Given the description of an element on the screen output the (x, y) to click on. 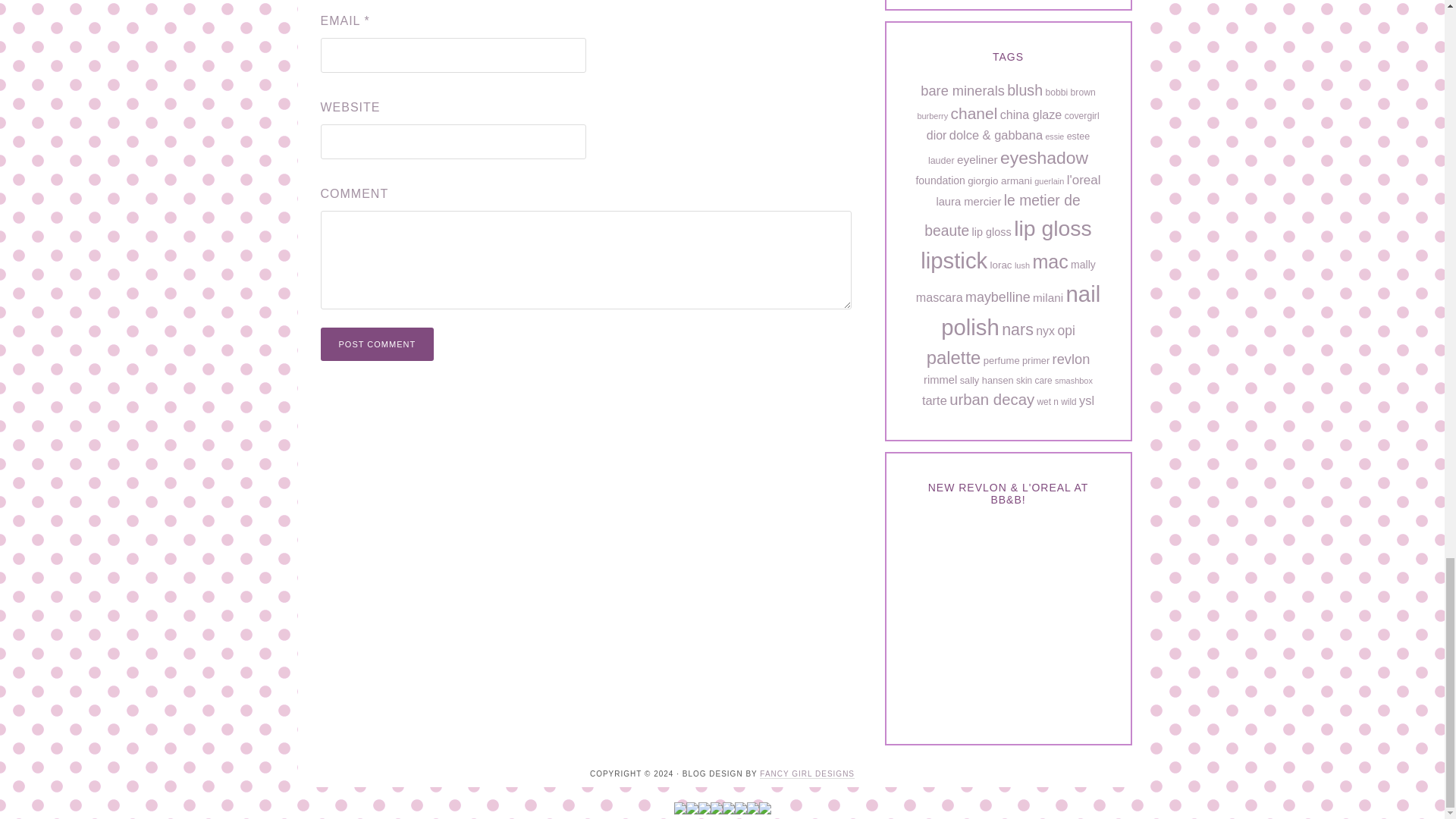
covergirl (1081, 115)
bare minerals (962, 90)
essie (1054, 135)
foundation (939, 180)
estee lauder (1008, 148)
eyeshadow (1043, 157)
dior (936, 134)
Post Comment (376, 344)
blush (1024, 89)
eyeliner (976, 159)
